Given the description of an element on the screen output the (x, y) to click on. 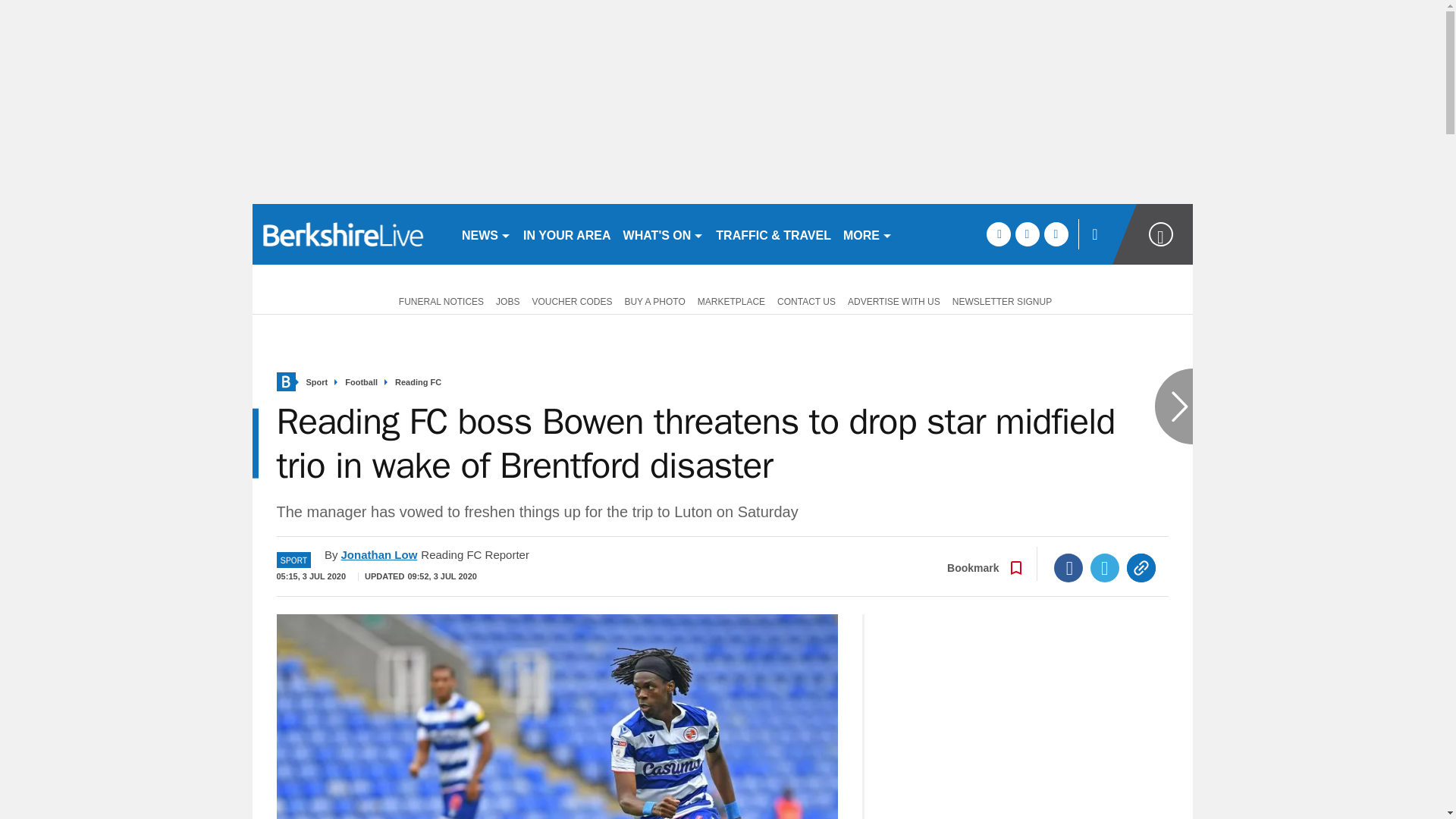
instagram (1055, 233)
NEWS (485, 233)
IN YOUR AREA (566, 233)
WHAT'S ON (663, 233)
facebook (997, 233)
getreading (349, 233)
MORE (867, 233)
twitter (1026, 233)
Facebook (1068, 567)
Twitter (1104, 567)
